Given the description of an element on the screen output the (x, y) to click on. 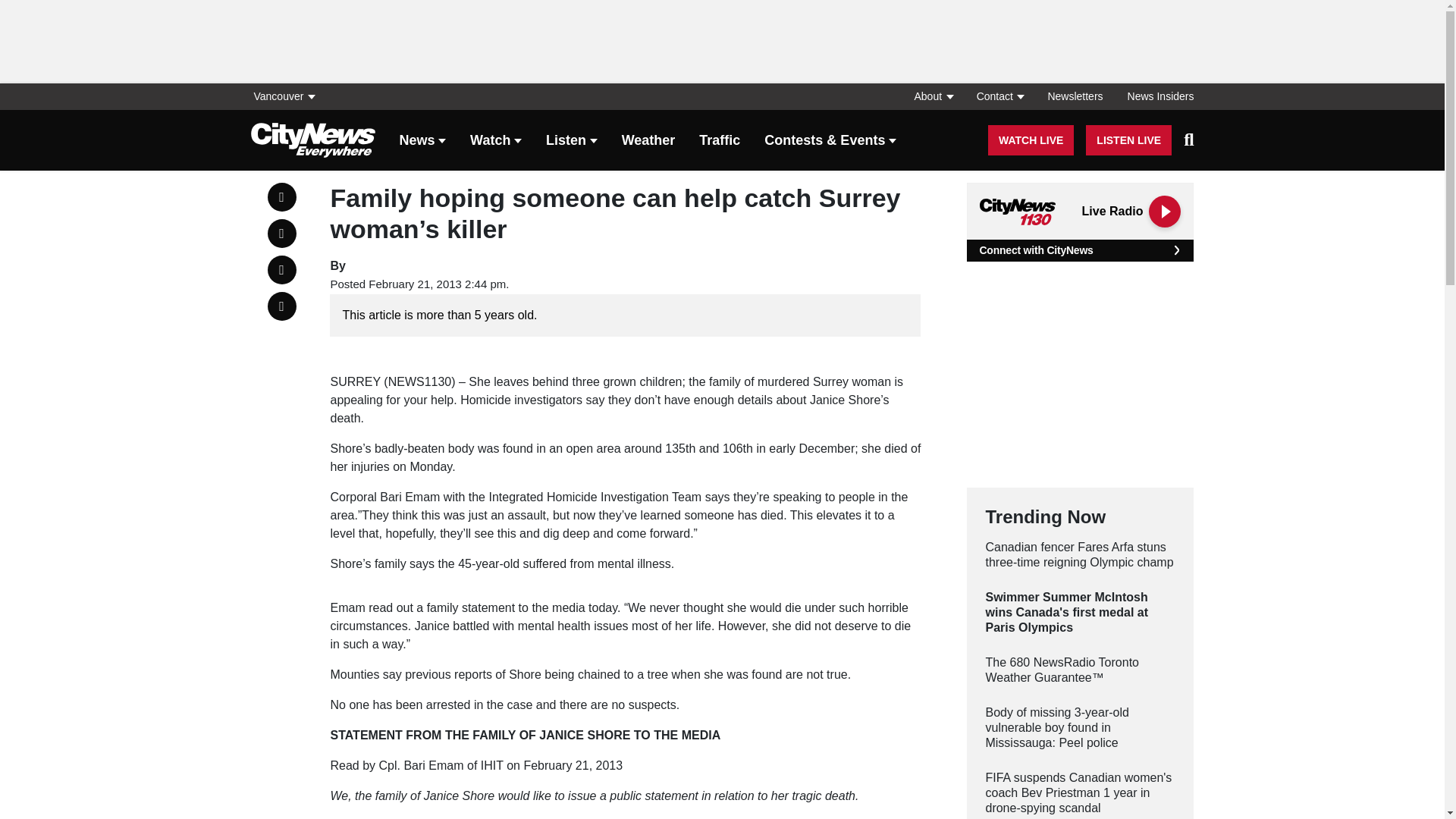
About (932, 96)
Newsletters (1075, 96)
Vancouver (287, 96)
News (421, 140)
News Insiders (1154, 96)
Contact (999, 96)
Listen (571, 140)
Watch (495, 140)
